Given the description of an element on the screen output the (x, y) to click on. 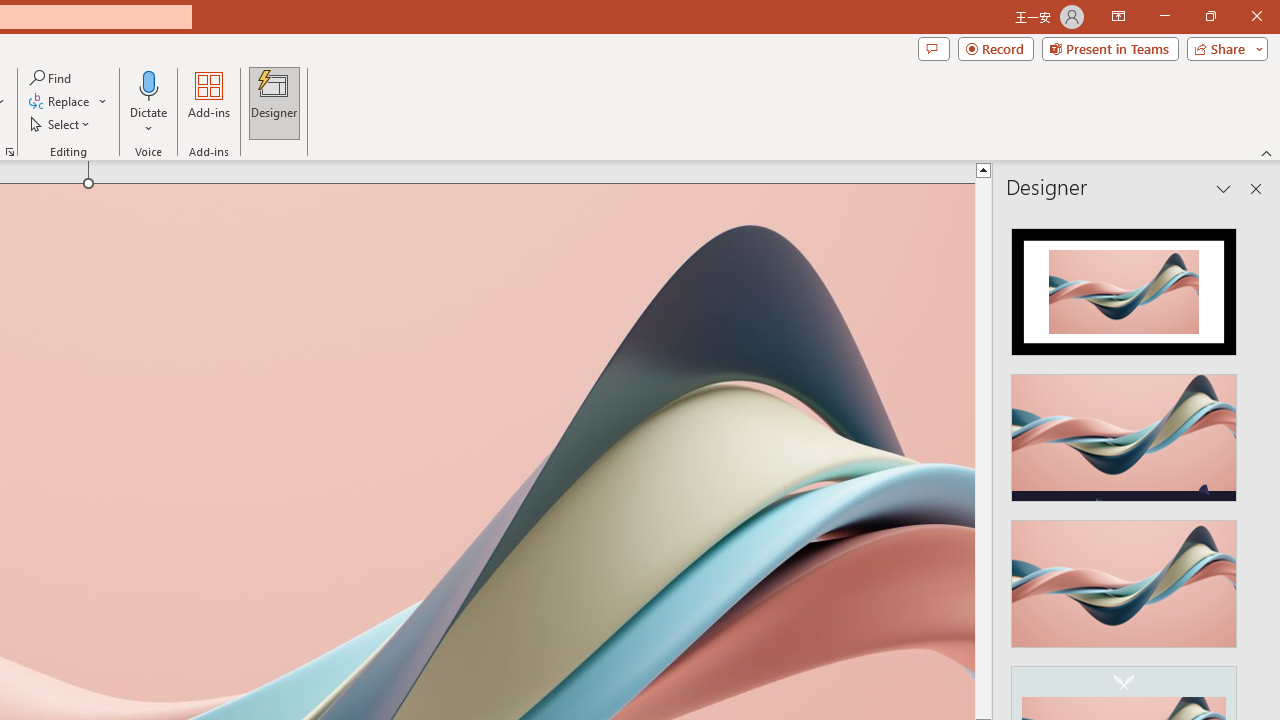
Recommended Design: Design Idea (1124, 286)
